Given the description of an element on the screen output the (x, y) to click on. 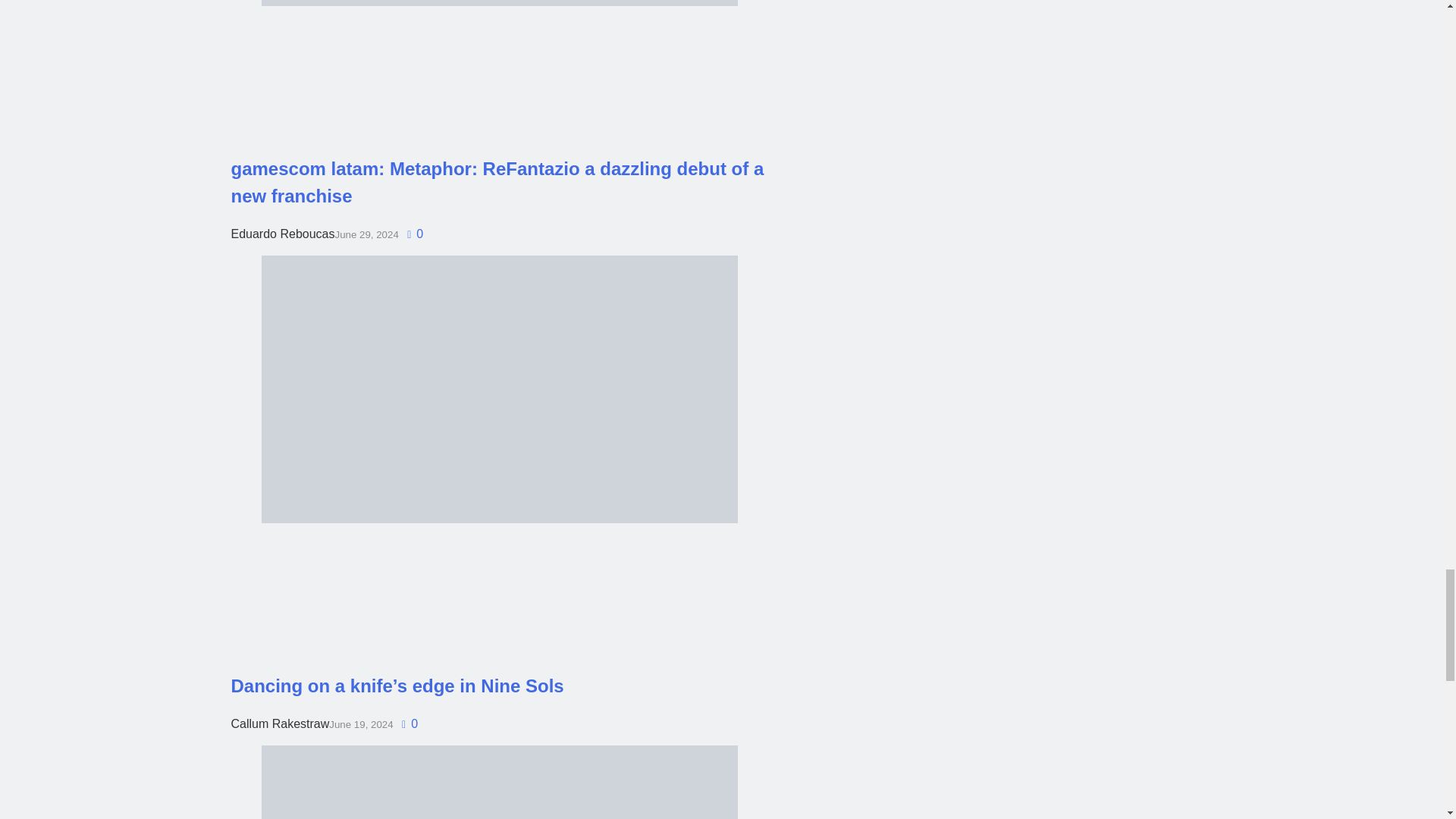
Eduardo Reboucas (282, 233)
